Given the description of an element on the screen output the (x, y) to click on. 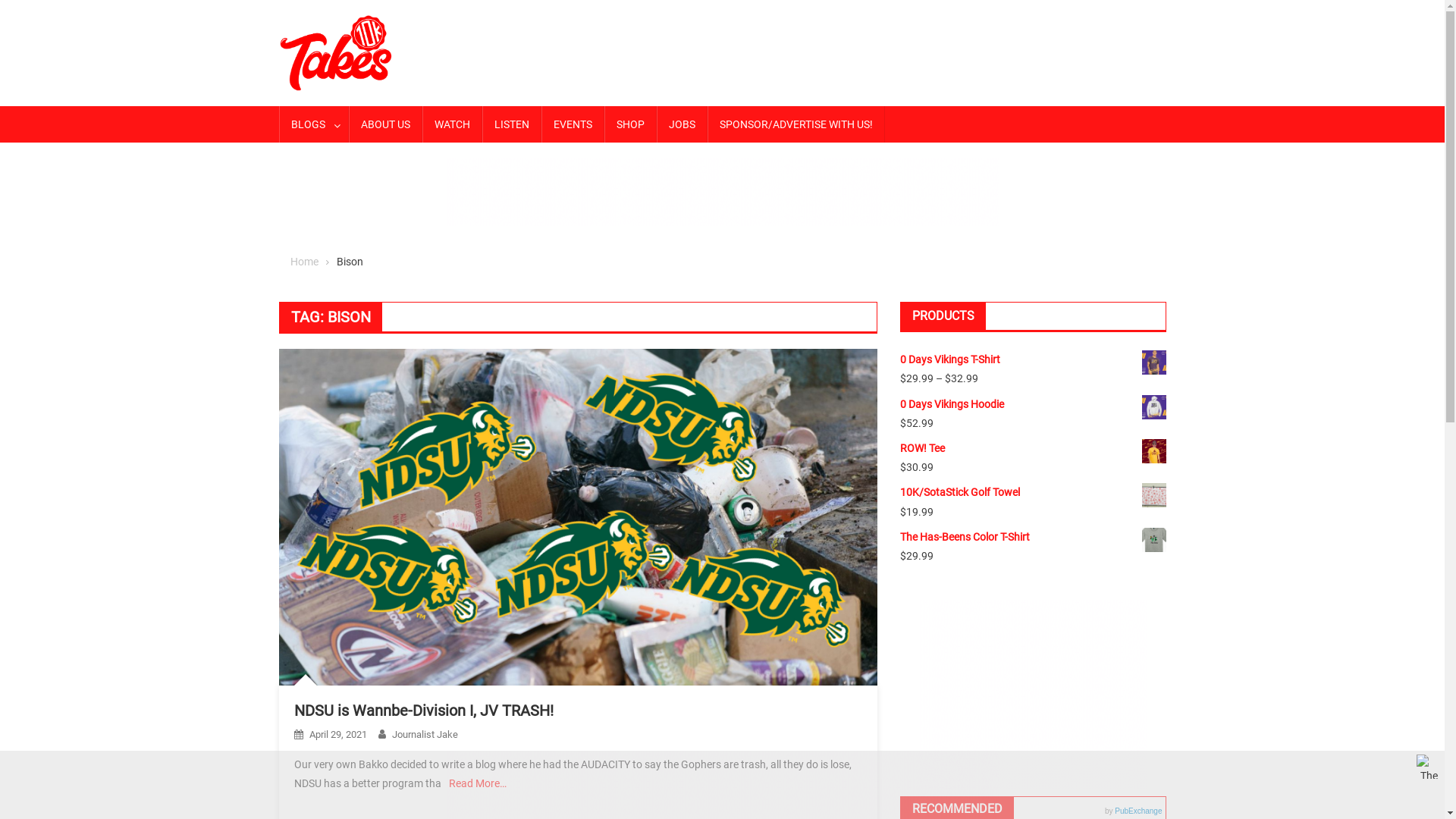
ABOUT US Element type: text (385, 124)
3rd party ad content Element type: hover (721, 191)
BLOGS Element type: text (313, 124)
3rd party ad content Element type: hover (1032, 693)
SPONSOR/ADVERTISE WITH US! Element type: text (795, 124)
The Has-Beens Color T-Shirt Element type: text (1032, 536)
EVENTS Element type: text (572, 124)
Journalist Jake Element type: text (424, 734)
0 Days Vikings T-Shirt Element type: text (1032, 359)
WATCH Element type: text (451, 124)
JOBS Element type: text (681, 124)
SHOP Element type: text (629, 124)
April 29, 2021 Element type: text (338, 734)
10K/SotaStick Golf Towel Element type: text (1032, 492)
NDSU is Wannbe-Division I, JV TRASH! Element type: text (423, 710)
Home Element type: text (303, 261)
LISTEN Element type: text (511, 124)
ROW! Tee Element type: text (1032, 448)
0 Days Vikings Hoodie Element type: text (1032, 404)
